Given the description of an element on the screen output the (x, y) to click on. 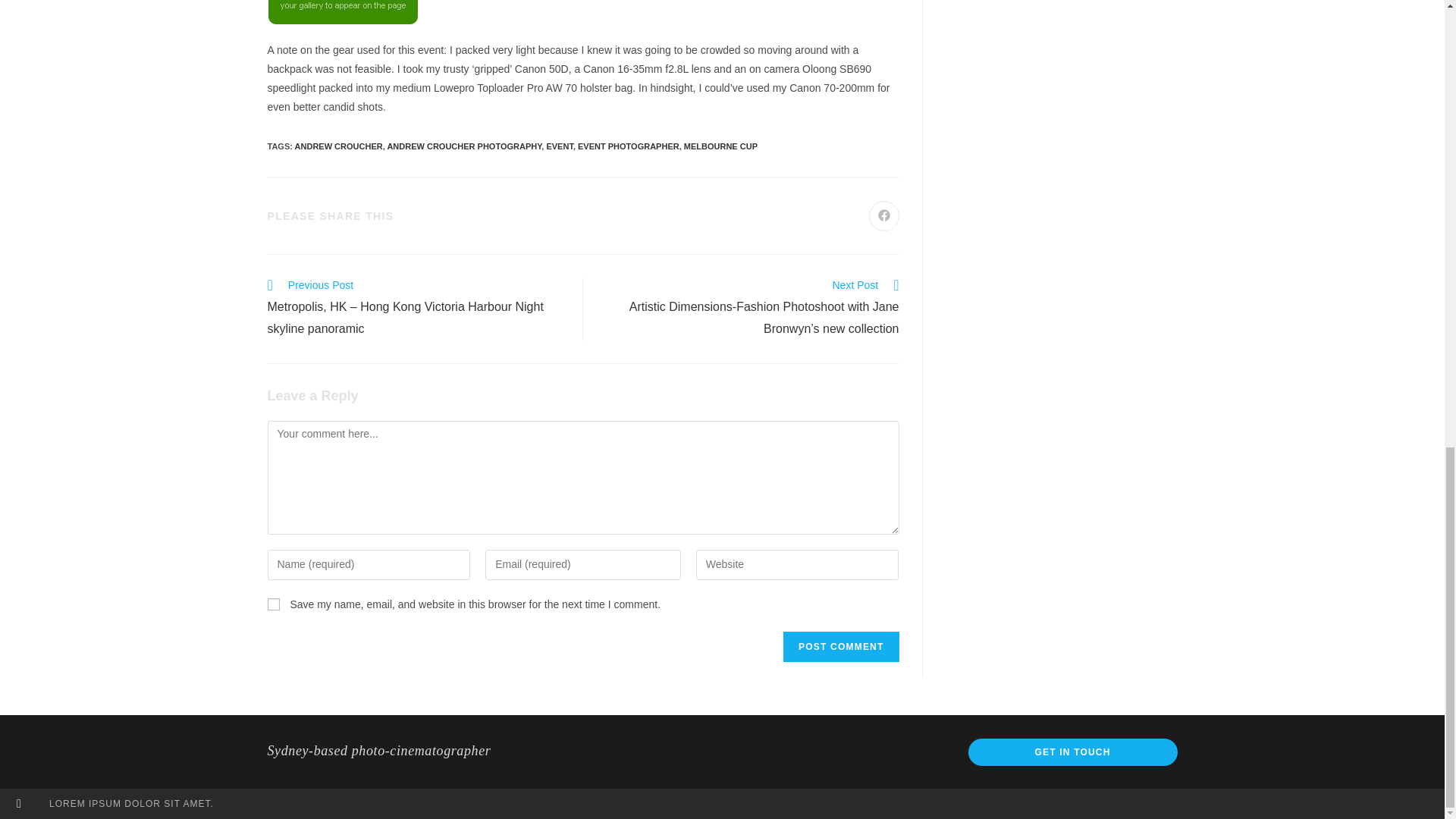
ANDREW CROUCHER (338, 145)
ANDREW CROUCHER PHOTOGRAPHY (464, 145)
MELBOURNE CUP (720, 145)
Post Comment (840, 646)
yes (272, 604)
EVENT PHOTOGRAPHER (628, 145)
EVENT (559, 145)
